Given the description of an element on the screen output the (x, y) to click on. 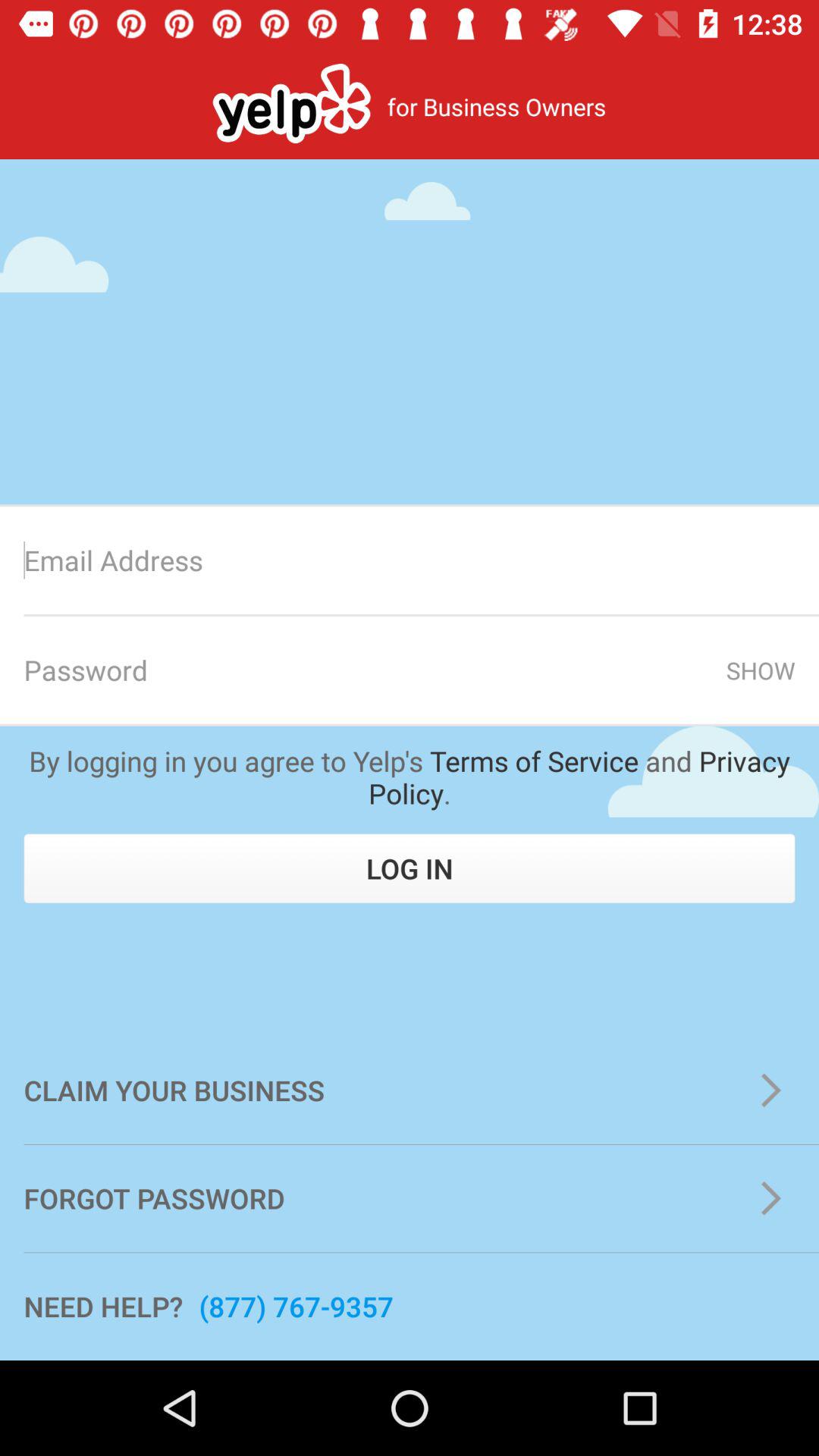
press show item (760, 670)
